Given the description of an element on the screen output the (x, y) to click on. 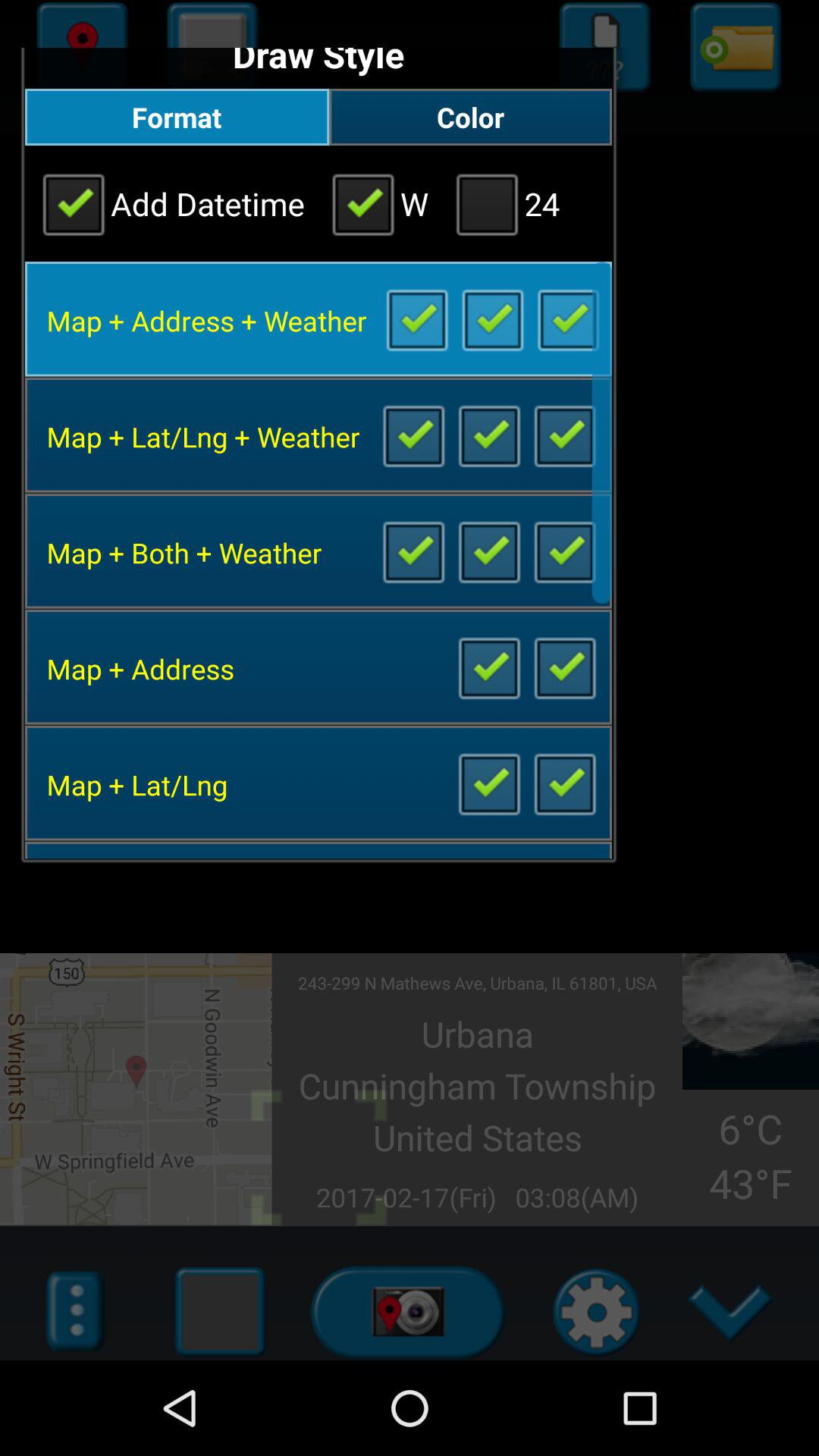
uncheck box (567, 318)
